Given the description of an element on the screen output the (x, y) to click on. 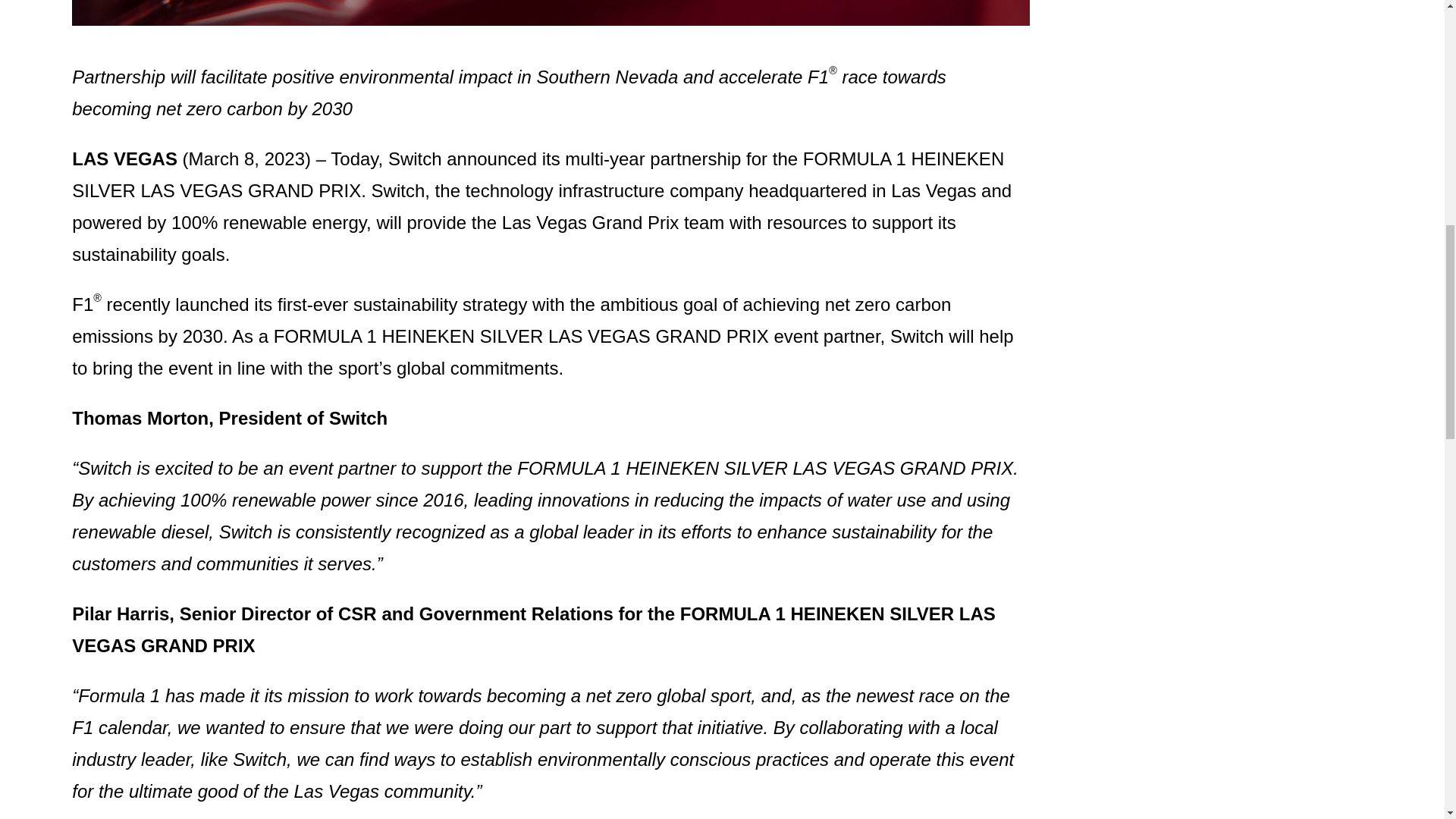
F1 Switch PR Large (550, 12)
